Given the description of an element on the screen output the (x, y) to click on. 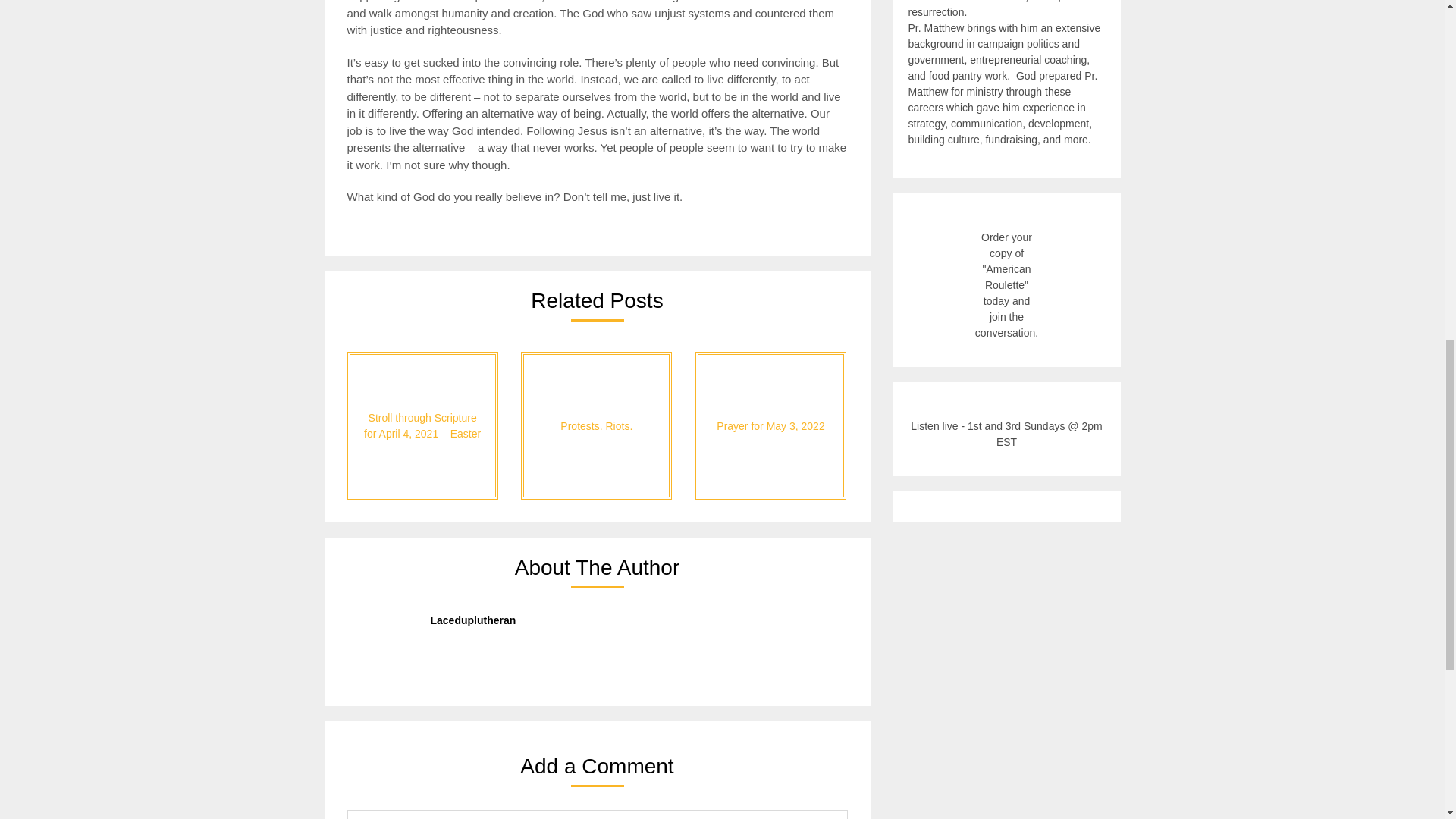
Prayer for May 3, 2022 (770, 425)
Protests. Riots. (596, 425)
Prayer for May 3, 2022 (770, 425)
Protests. Riots. (596, 425)
